Given the description of an element on the screen output the (x, y) to click on. 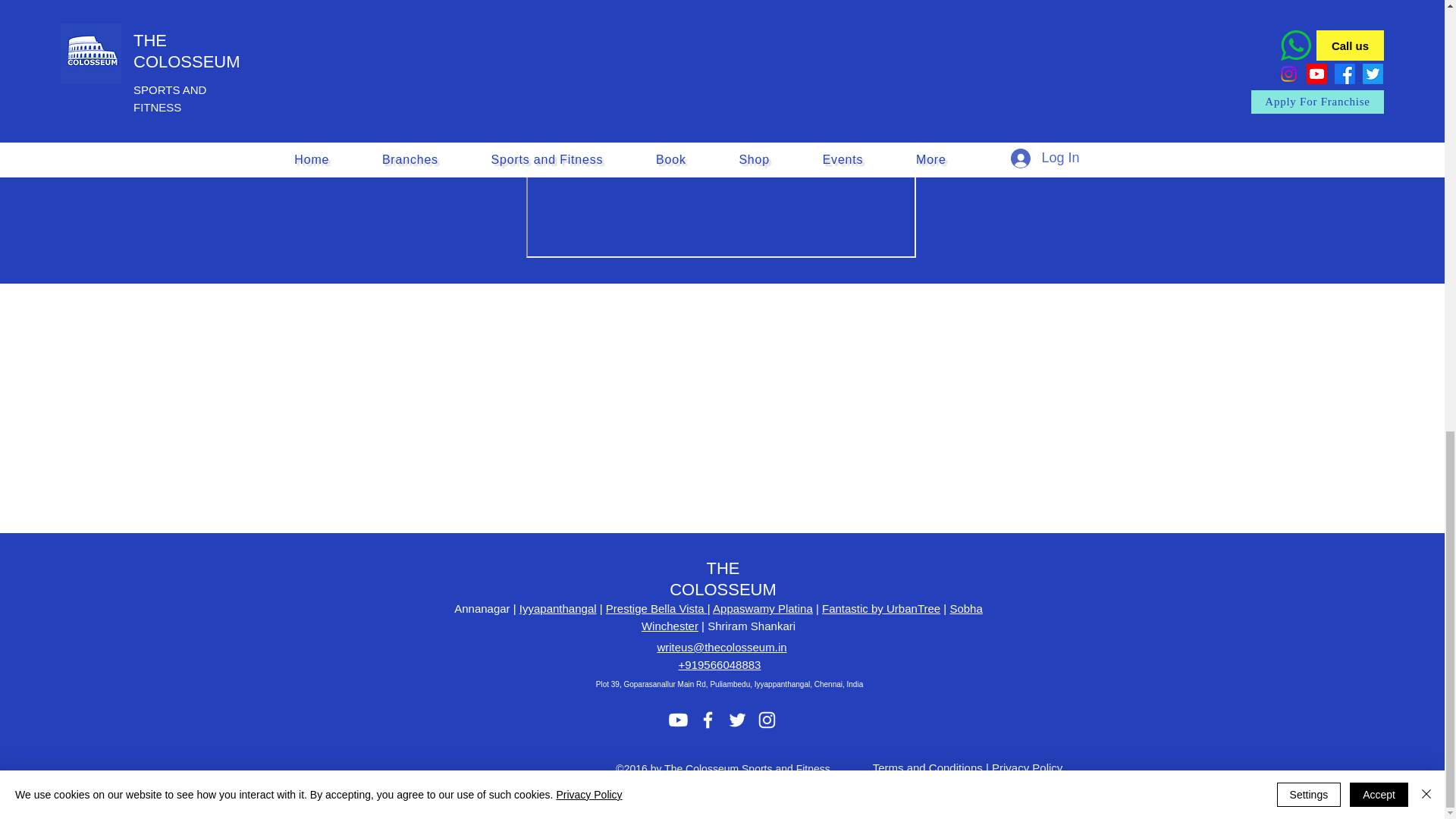
Appaswamy Platina (762, 608)
Google Maps (908, 408)
Prestige Bella Vista (656, 608)
The Colosseum Sports Google Review (535, 405)
Iyyapanthangal (557, 608)
Contact Us Form (719, 133)
Fantastic by UrbanTree (881, 608)
